Given the description of an element on the screen output the (x, y) to click on. 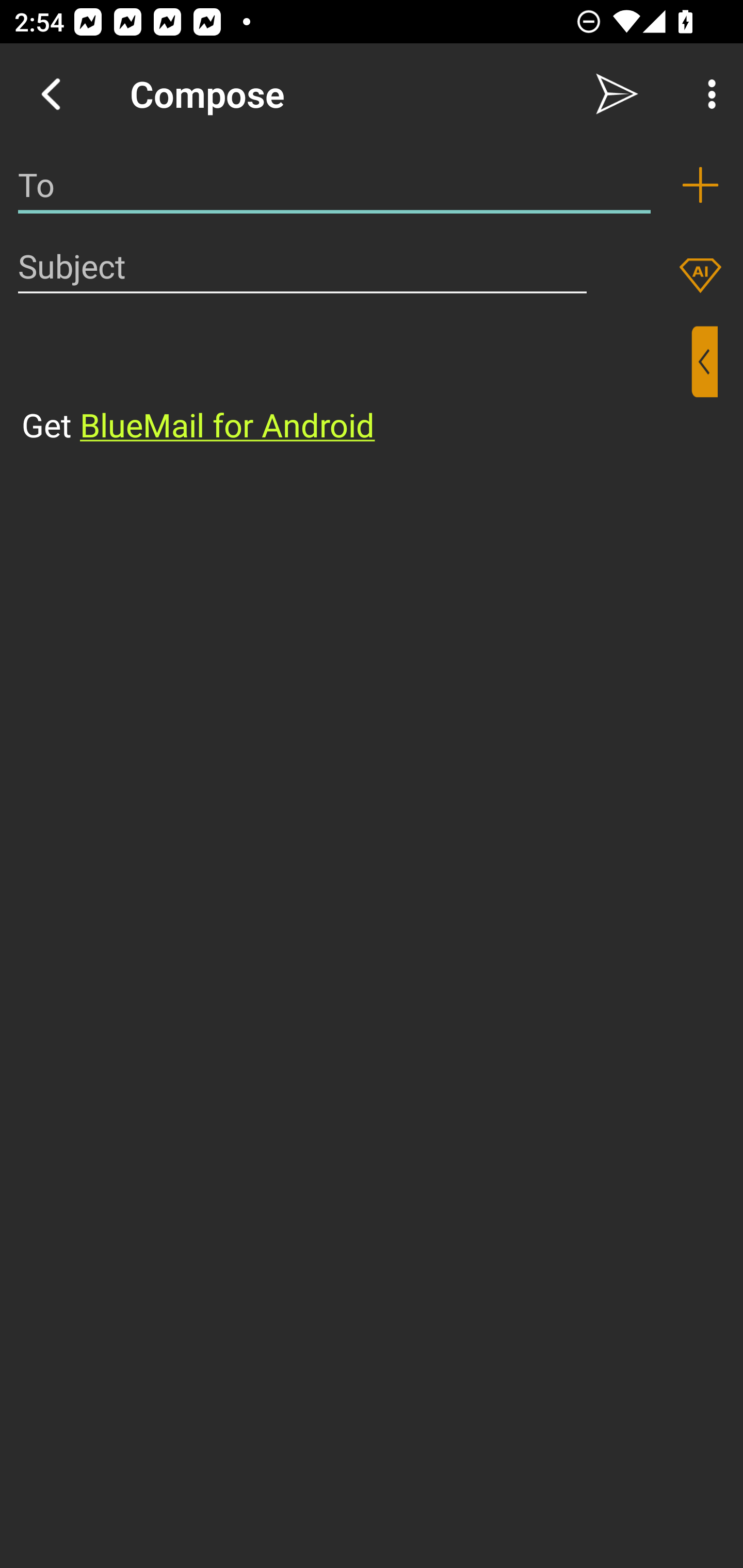
Navigate up (50, 93)
Send (616, 93)
More Options (706, 93)
To (334, 184)
Add recipient (To) (699, 184)
Subject (302, 266)


⁣Get BlueMail for Android ​ (355, 386)
